Given the description of an element on the screen output the (x, y) to click on. 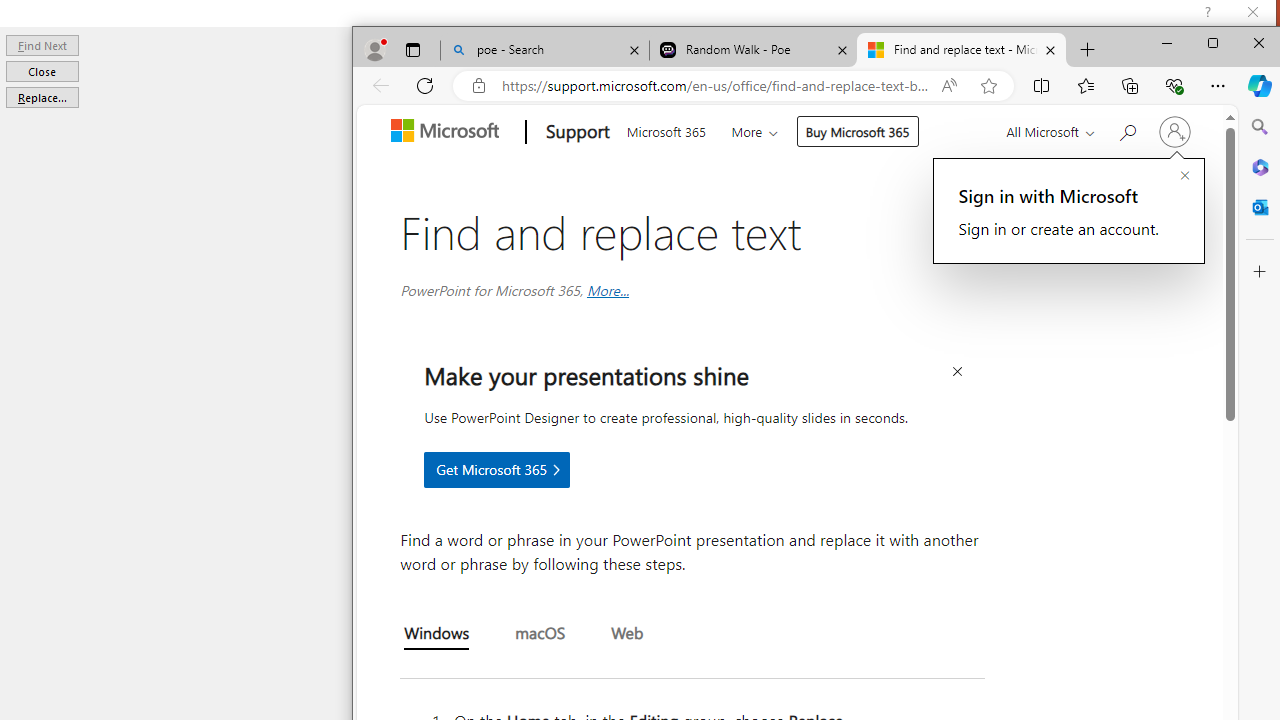
Customize (1259, 272)
Browser essentials (1174, 85)
Make your presentations shine Get Microsoft 365 (496, 470)
Find and replace text - Microsoft Support (960, 50)
Microsoft 365 (665, 129)
Close callout prompt. (1184, 176)
Read aloud this page (Ctrl+Shift+U) (948, 85)
Split screen (1041, 85)
Collections (1129, 85)
Web (626, 635)
